Given the description of an element on the screen output the (x, y) to click on. 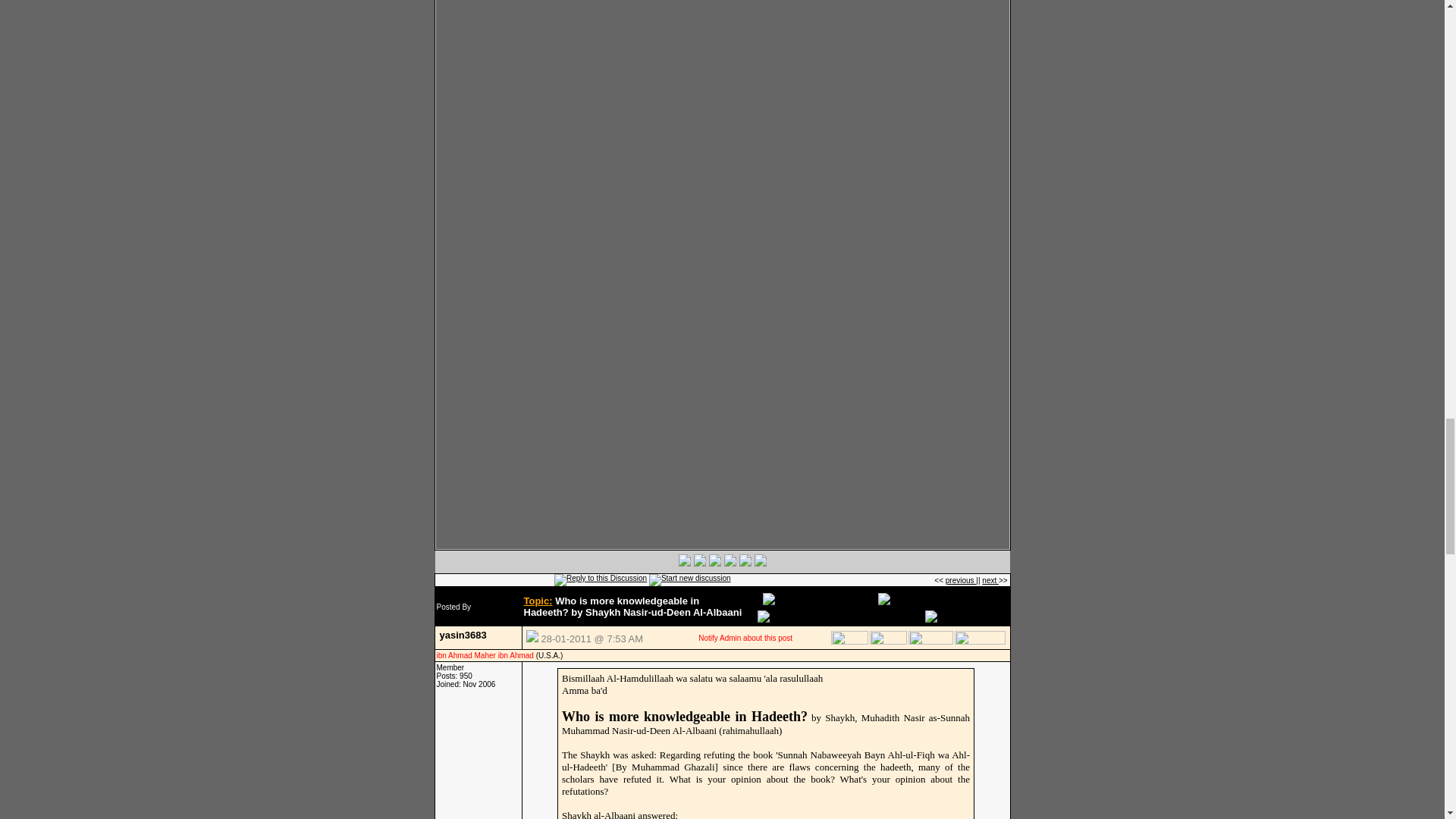
previous (960, 580)
view yasin3683's profile (930, 642)
Notify Admin about this post (745, 635)
Previous Discussion (960, 580)
Send a private message to yasin3683 (978, 642)
reply to this topic (849, 642)
edit this message (887, 642)
Next Discussion (989, 580)
next (989, 580)
